Given the description of an element on the screen output the (x, y) to click on. 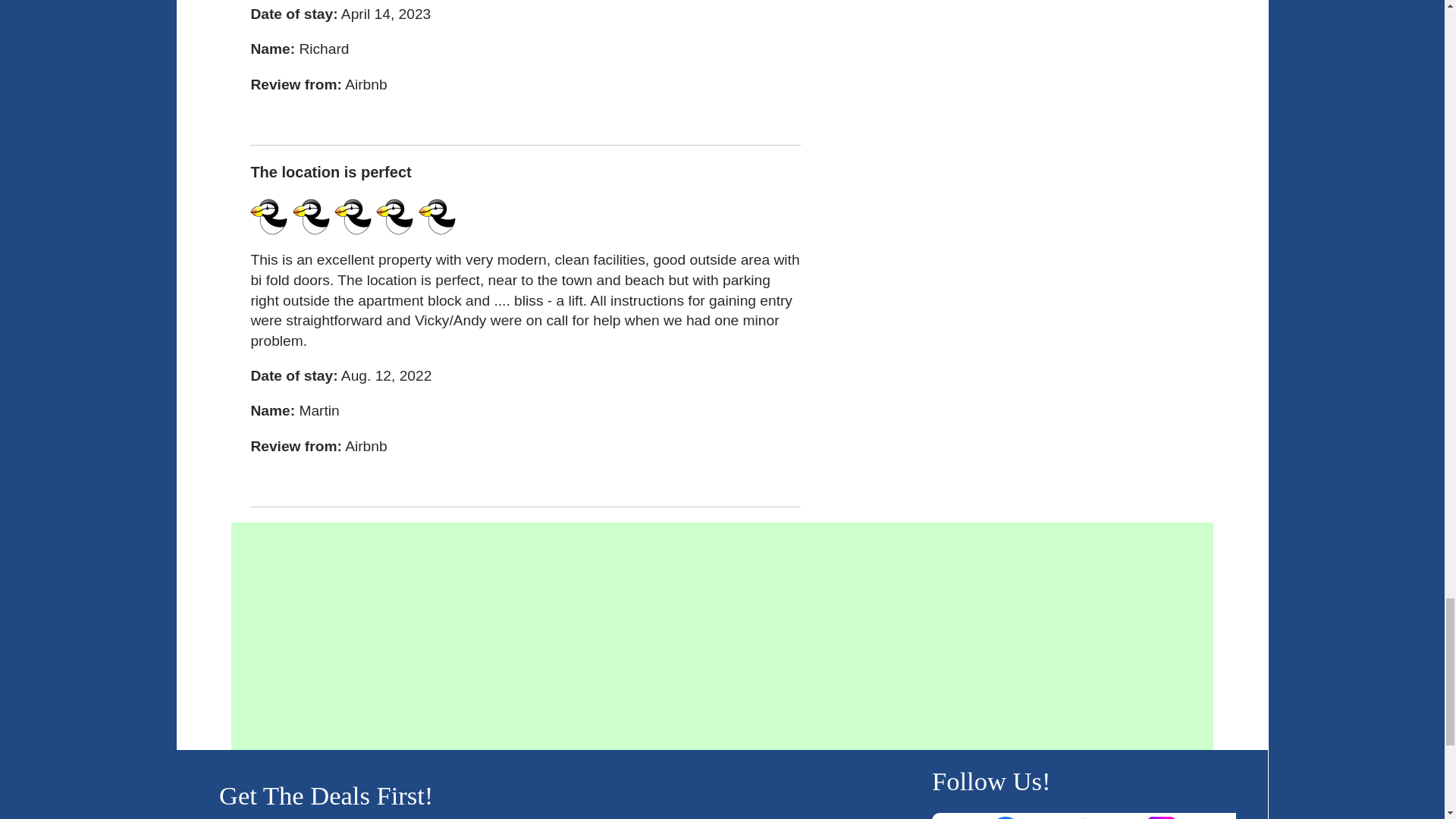
Facebook (1006, 817)
TikTok (1083, 817)
Instagram (1162, 817)
